Given the description of an element on the screen output the (x, y) to click on. 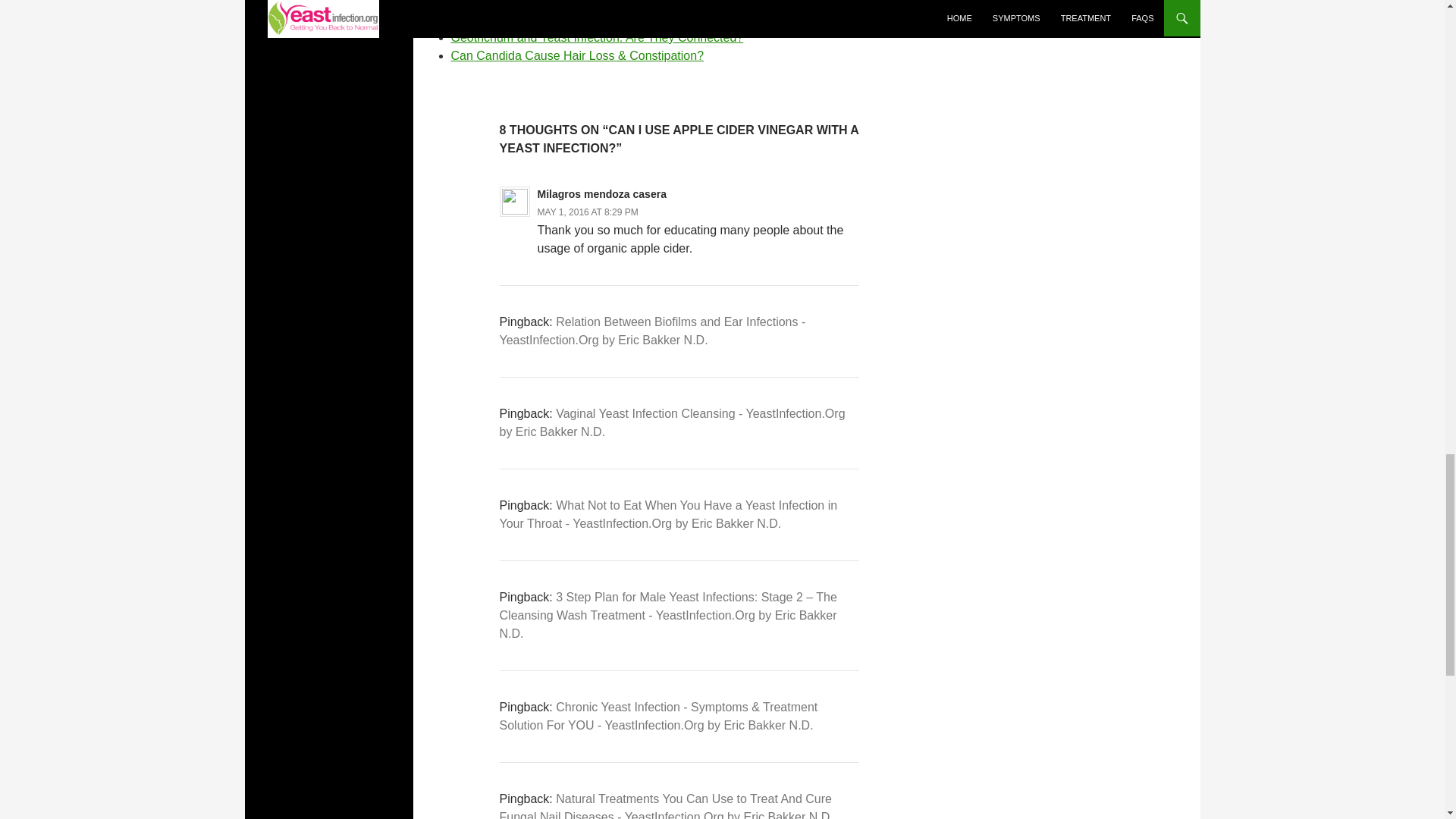
Multiple Yeast Infections Have Tried Everything (576, 19)
Can I Have Apples on the Candida Diet? (558, 3)
MAY 1, 2016 AT 8:29 PM (588, 212)
Geotrichum and Yeast Infection: Are They Connected? (595, 37)
